Given the description of an element on the screen output the (x, y) to click on. 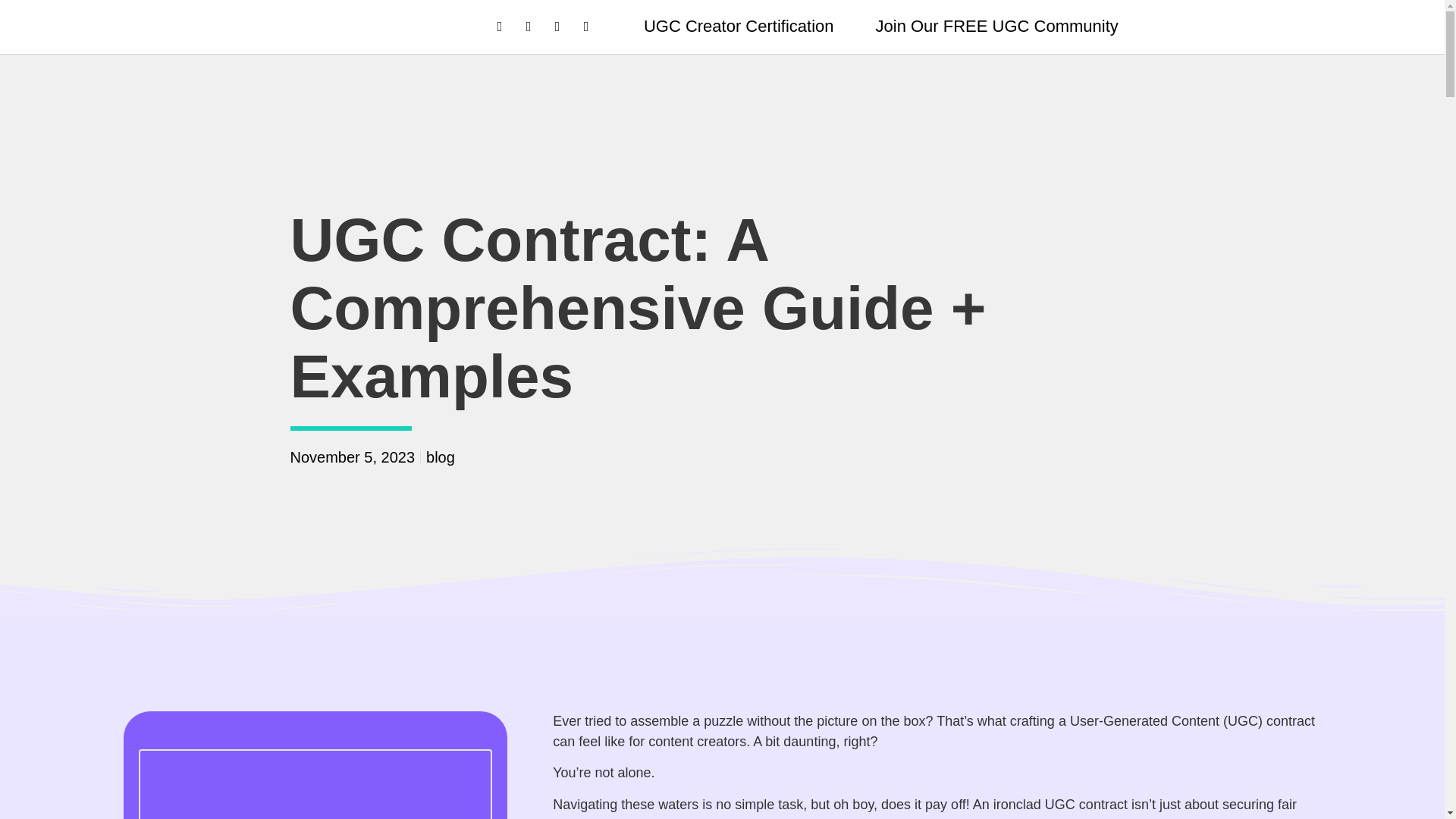
Join Our FREE UGC Community (996, 26)
blog (440, 457)
November 5, 2023 (351, 456)
UGC Creator Certification (738, 26)
